Given the description of an element on the screen output the (x, y) to click on. 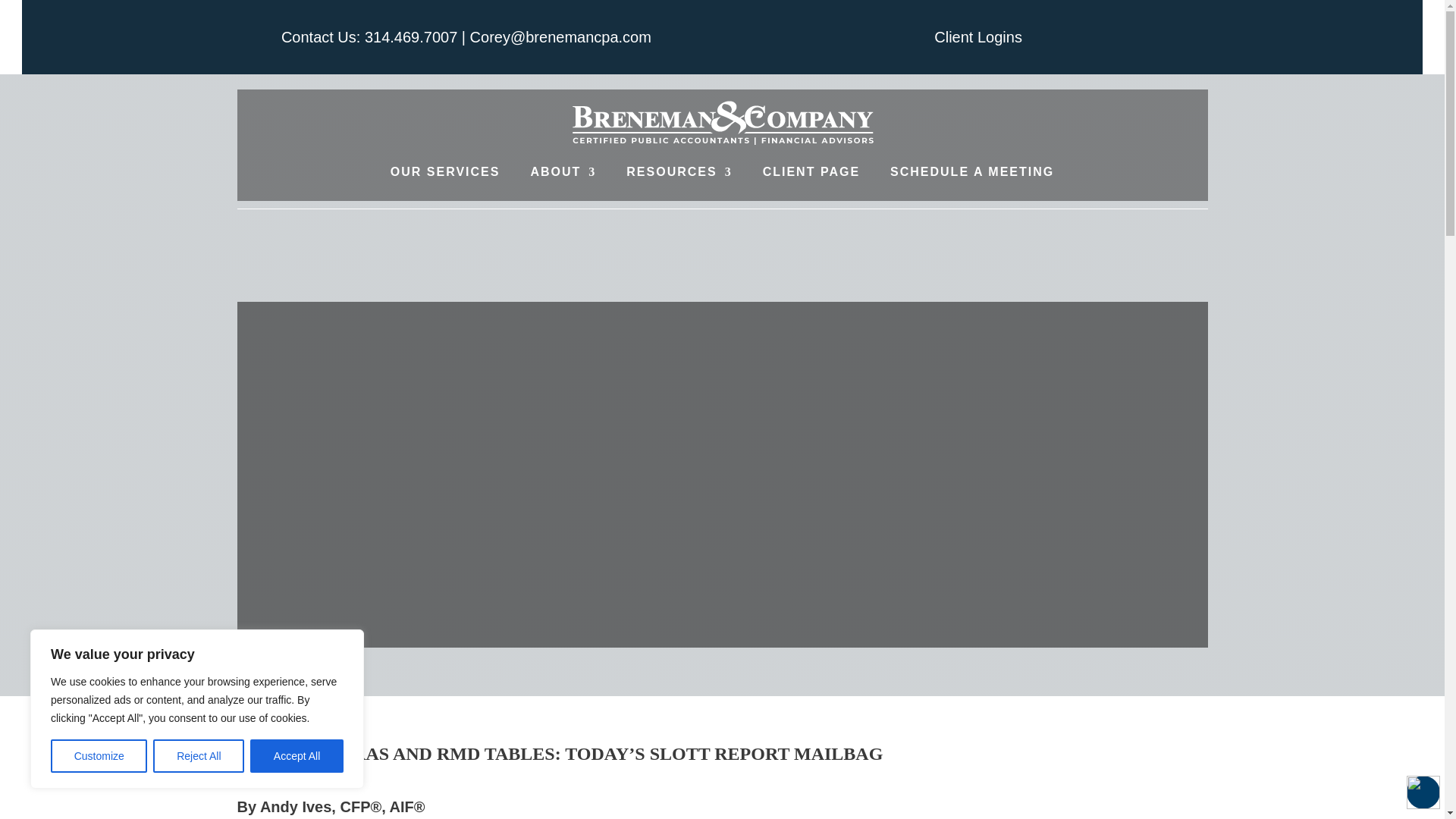
OUR SERVICES (445, 171)
Client Logins (978, 36)
Accessibility Menu (1422, 792)
CLIENT PAGE (811, 171)
ABOUT (562, 171)
Customize (98, 756)
RESOURCES (679, 171)
SCHEDULE A MEETING (971, 171)
Reject All (198, 756)
Accept All (296, 756)
